Given the description of an element on the screen output the (x, y) to click on. 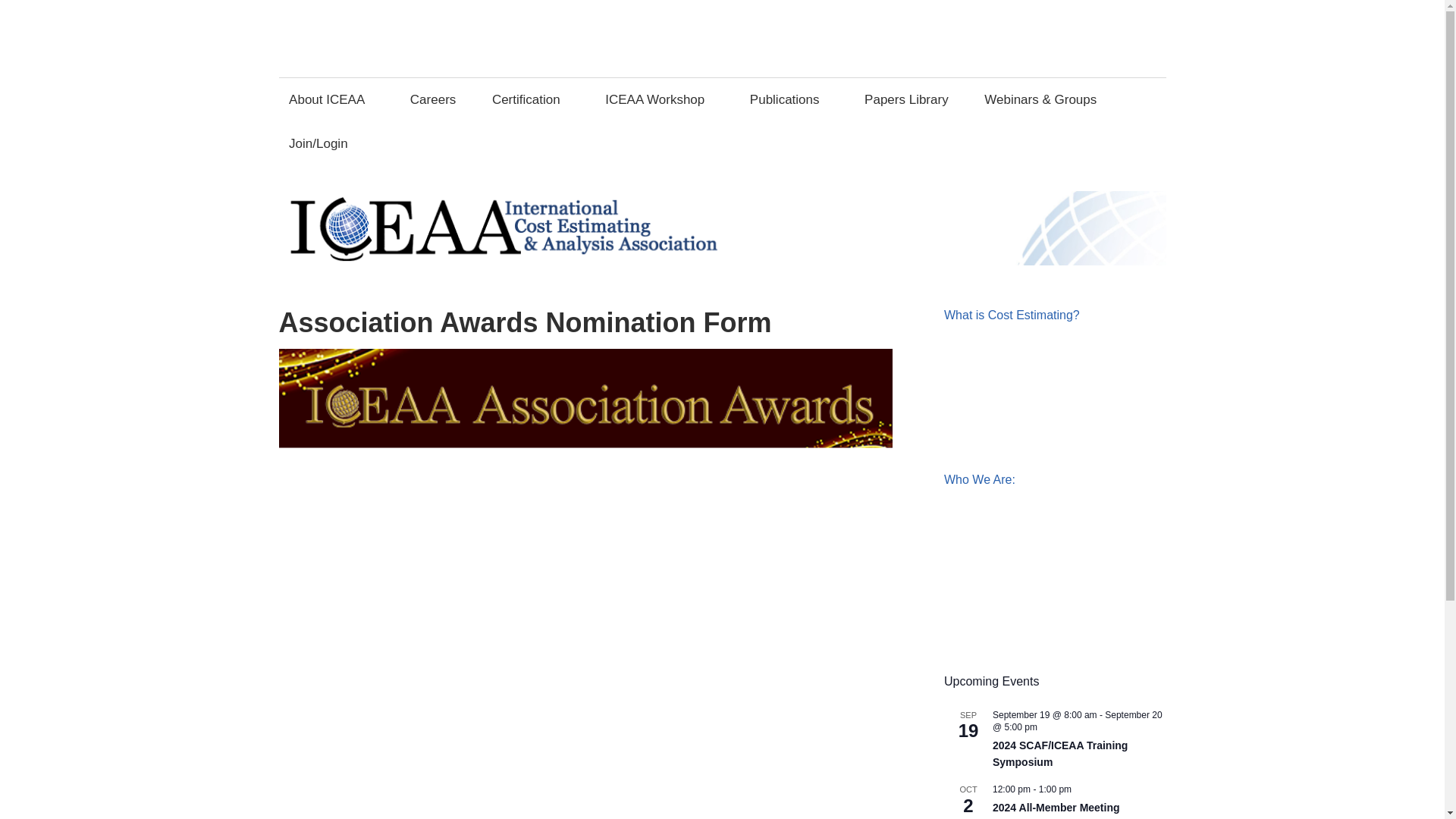
Certification (530, 99)
2024 All-Member Meeting (1055, 807)
About ICEAA (331, 99)
Careers (431, 99)
ICEAA Workshop (659, 99)
